Given the description of an element on the screen output the (x, y) to click on. 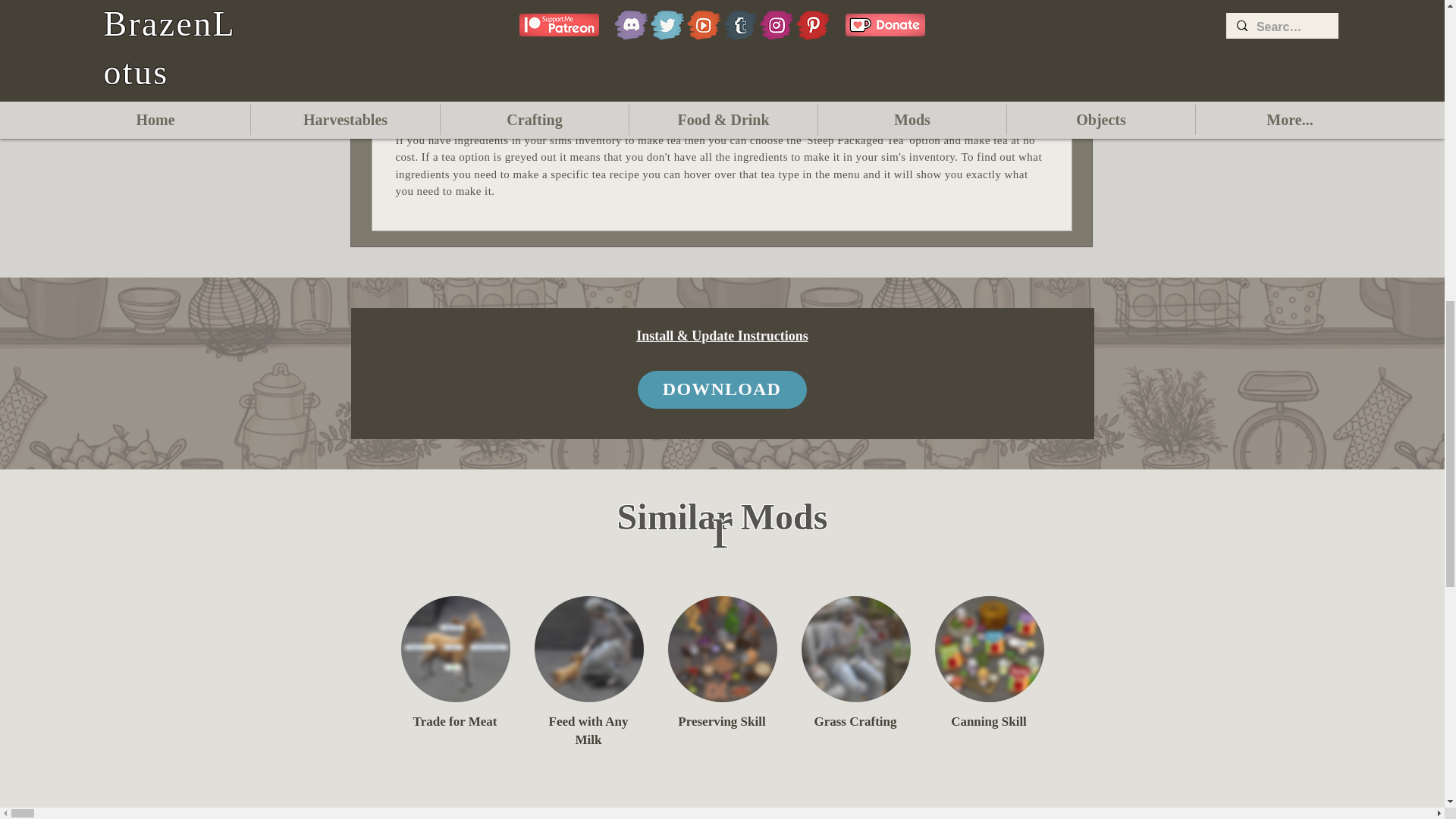
Trade for Meat (454, 648)
Feed with Any Milk (588, 648)
DOWNLOAD (721, 389)
Preserving Skill (721, 648)
Grass Crafting (855, 648)
Canning Skill (988, 648)
